Given the description of an element on the screen output the (x, y) to click on. 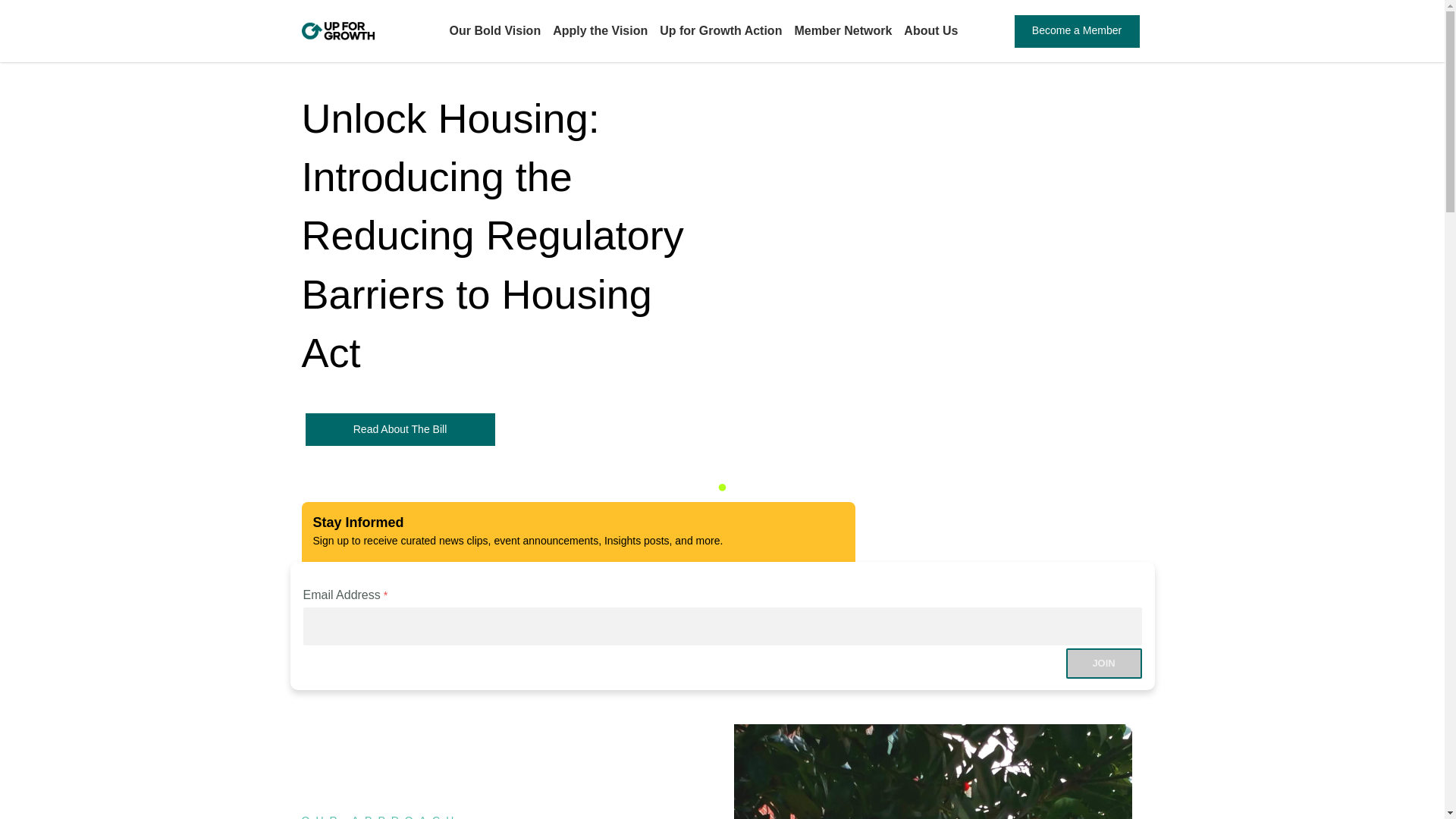
Email Address (721, 626)
Our Bold Vision (495, 30)
Read About The Bill (399, 429)
Member Network (842, 30)
1 (676, 488)
Up for Growth Action (720, 30)
Become a Member (1077, 31)
About Us (931, 30)
Go home page (337, 31)
Apply the Vision (600, 30)
JOIN (1103, 663)
